Given the description of an element on the screen output the (x, y) to click on. 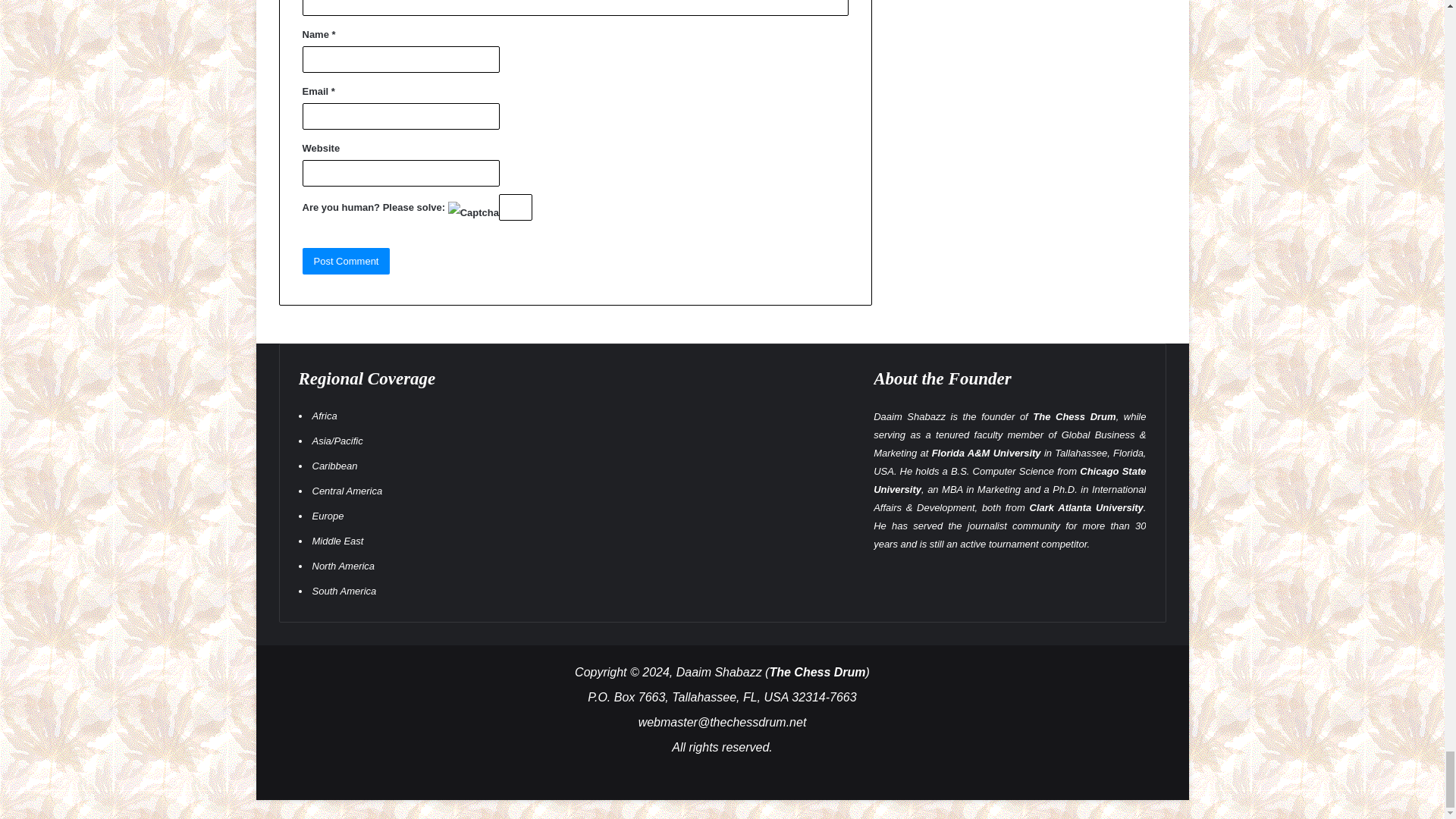
Post Comment (345, 261)
